Given the description of an element on the screen output the (x, y) to click on. 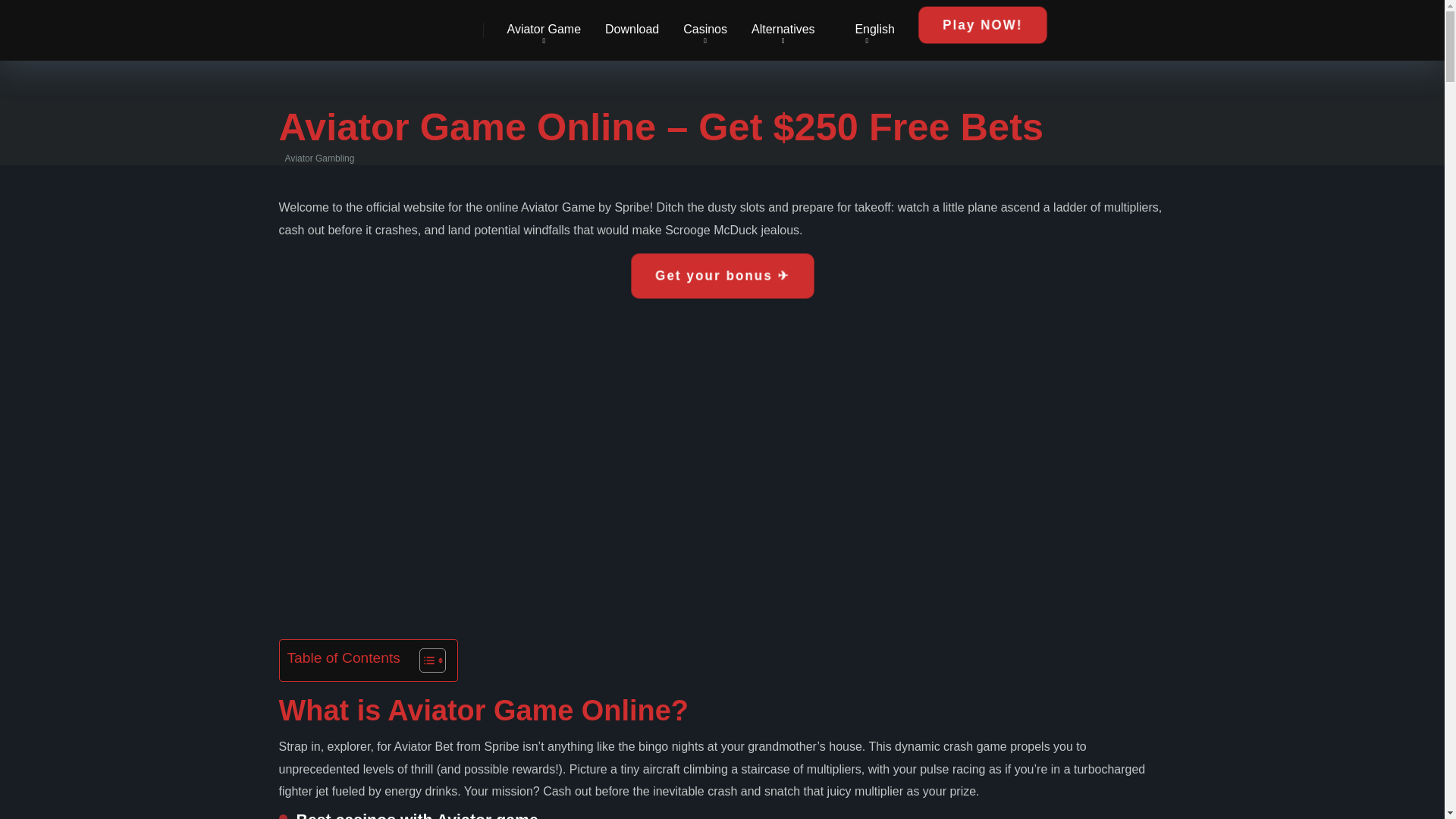
English (867, 30)
Download (631, 30)
Aviator Gambling (308, 24)
Casinos (705, 30)
Alternatives (783, 30)
Aviator Game (543, 30)
